Given the description of an element on the screen output the (x, y) to click on. 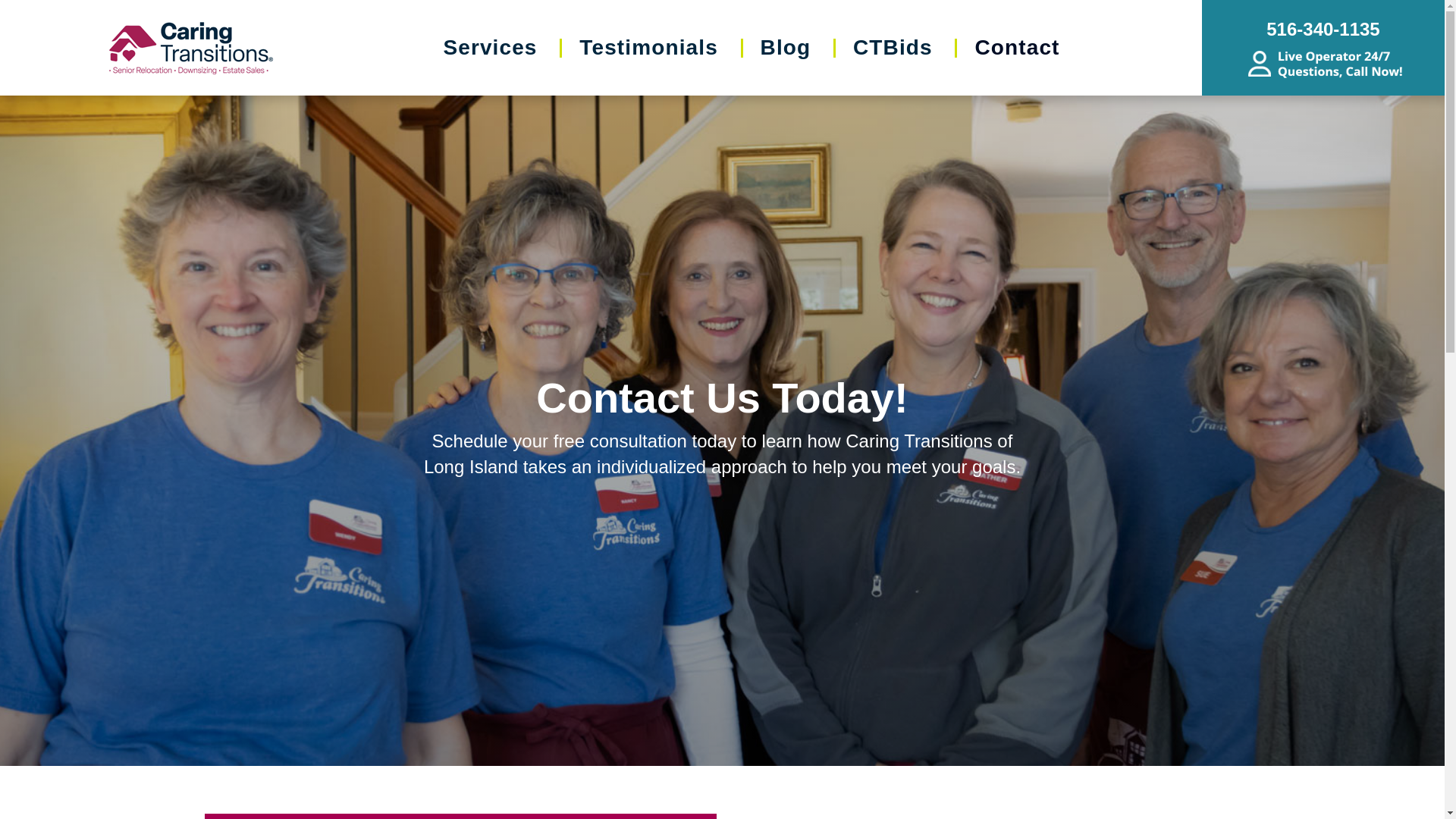
Contact (1016, 47)
Testimonials (648, 47)
Blog (785, 47)
Services (489, 47)
CTBids (893, 47)
